Given the description of an element on the screen output the (x, y) to click on. 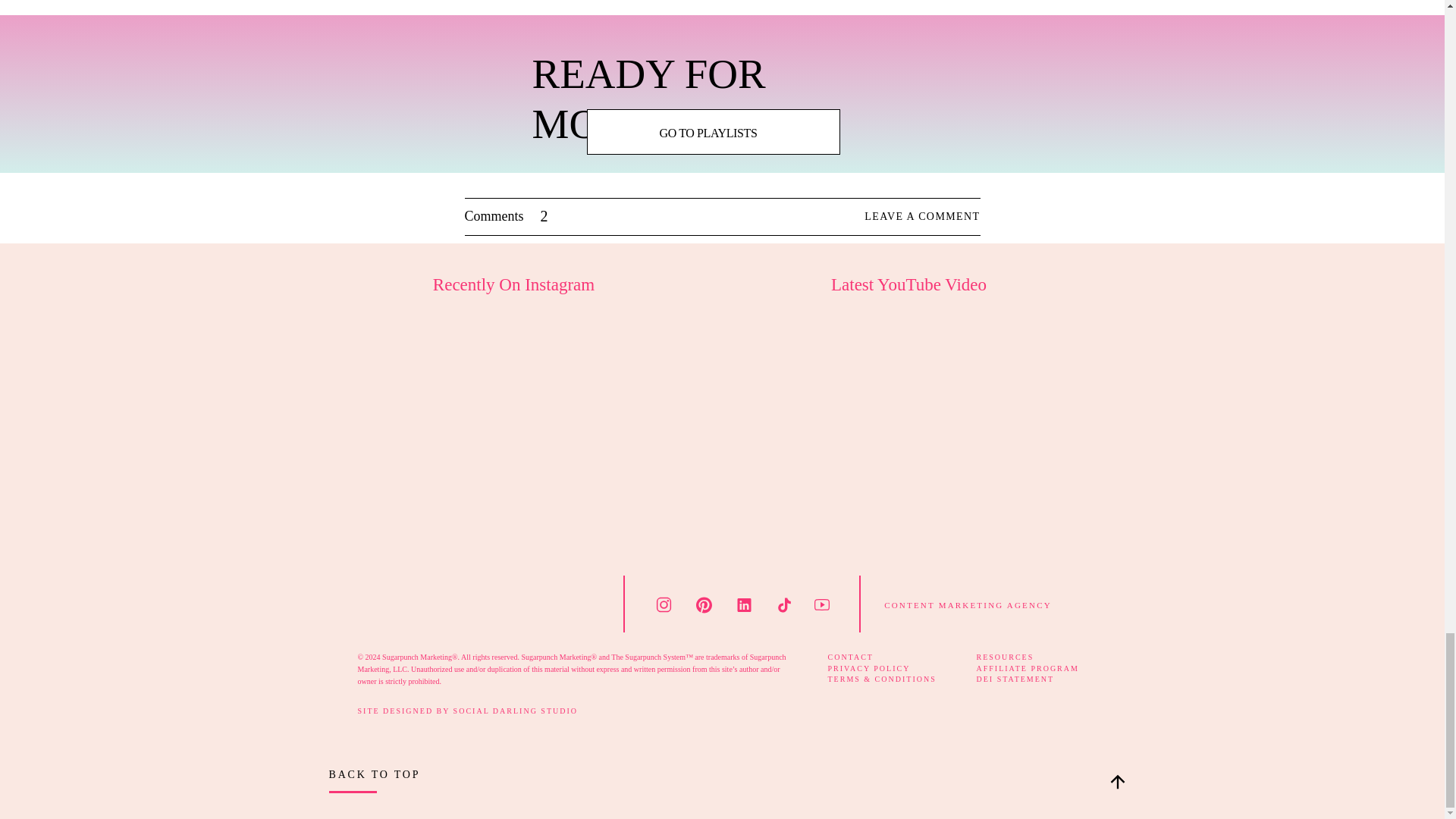
GO TO PLAYLISTS (707, 132)
LEAVE A COMMENT (894, 217)
